Given the description of an element on the screen output the (x, y) to click on. 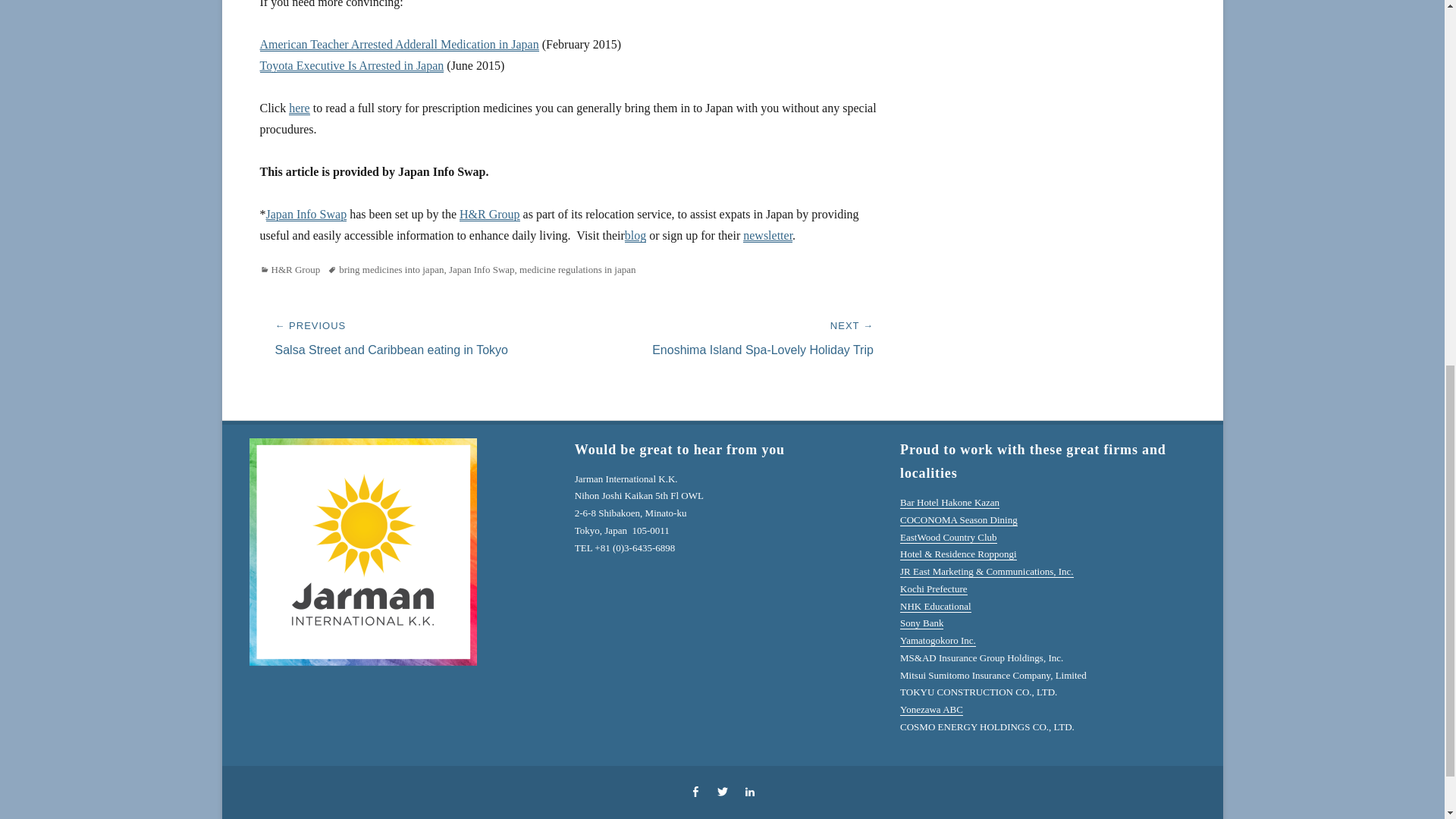
Japan Info Swap (305, 214)
LinkedIn (748, 791)
Twitter (721, 791)
blog (635, 235)
here (299, 107)
Facebook (694, 791)
newsletter (767, 235)
medicine regulations in japan (576, 269)
American Teacher Arrested Adderall Medication in Japan (398, 43)
Toyota Executive Is Arrested in Japan (351, 65)
